Given the description of an element on the screen output the (x, y) to click on. 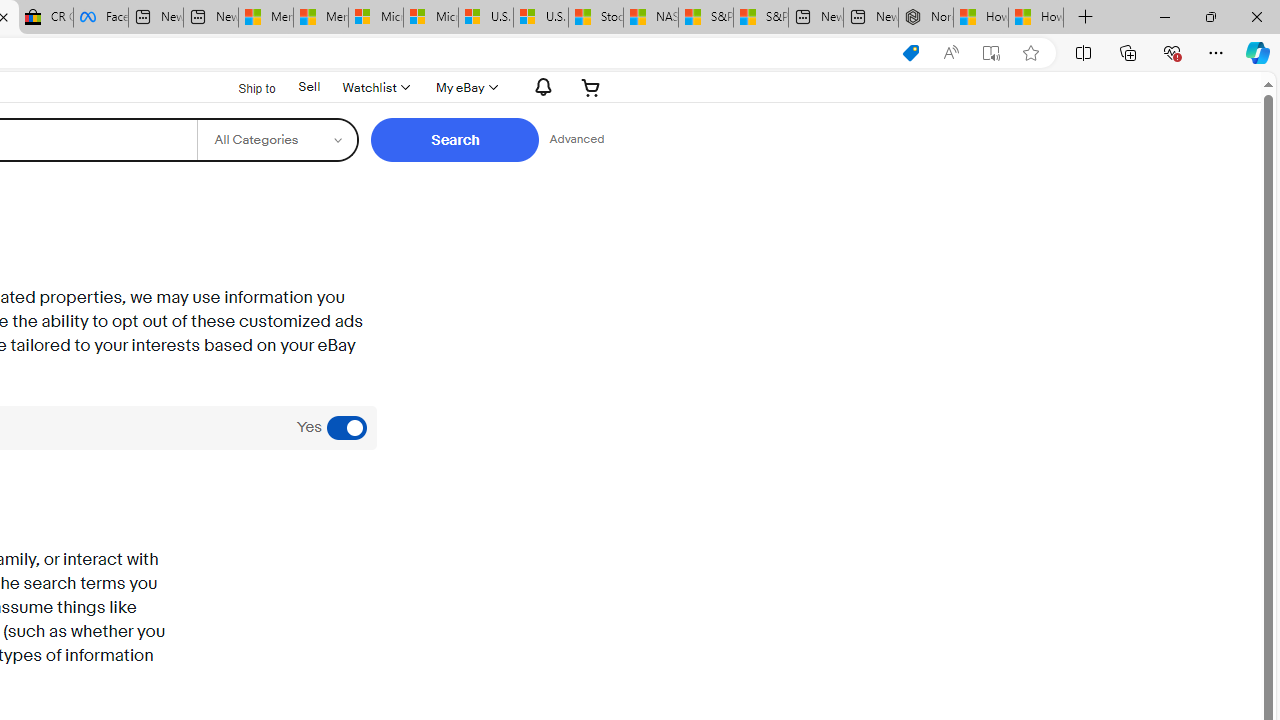
WatchlistExpand Watch List (374, 87)
Ship to (244, 88)
Advanced Search (576, 139)
AutomationID: gh-eb-Alerts (540, 87)
My eBayExpand My eBay (464, 87)
Select a category for search (277, 139)
